Given the description of an element on the screen output the (x, y) to click on. 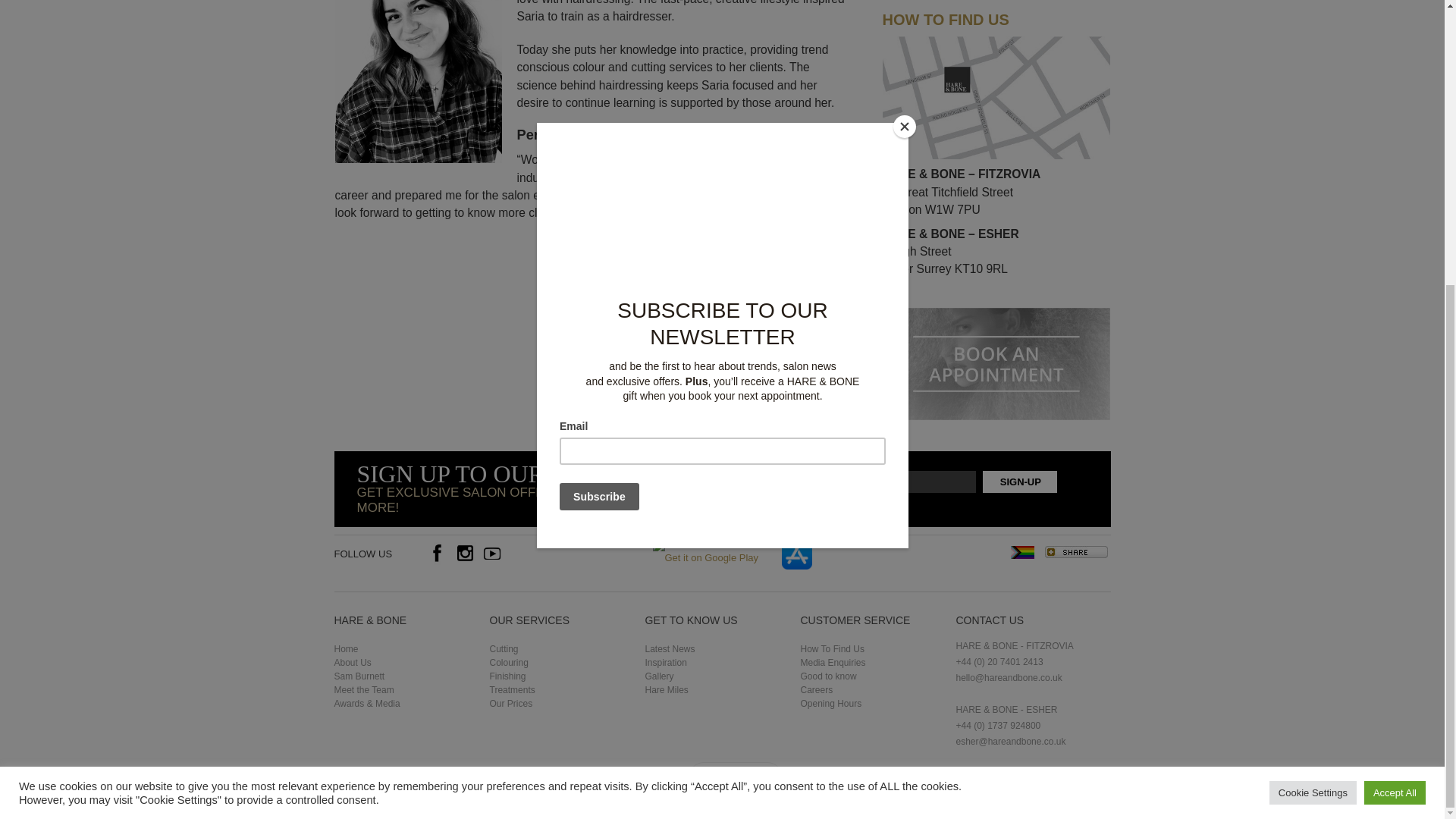
Contact (995, 43)
Book Online (995, 315)
SIGN-UP (1019, 481)
SIGN-UP (1019, 481)
About Us (352, 662)
Meet the Team (363, 689)
Home (345, 648)
Book Now (735, 349)
Sam Burnett (358, 675)
